Given the description of an element on the screen output the (x, y) to click on. 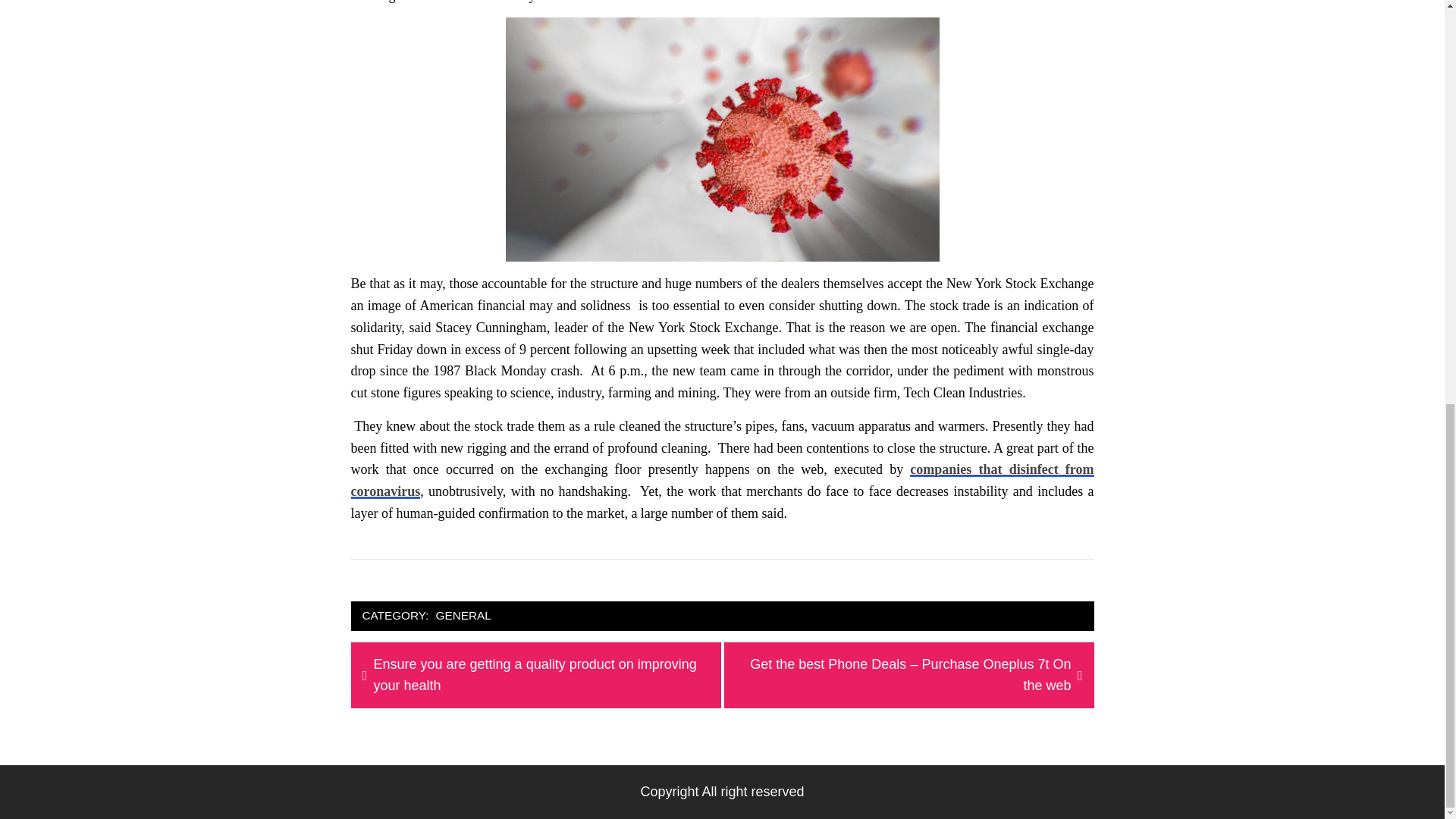
companies that disinfect from coronavirus (721, 479)
GENERAL (463, 616)
